Given the description of an element on the screen output the (x, y) to click on. 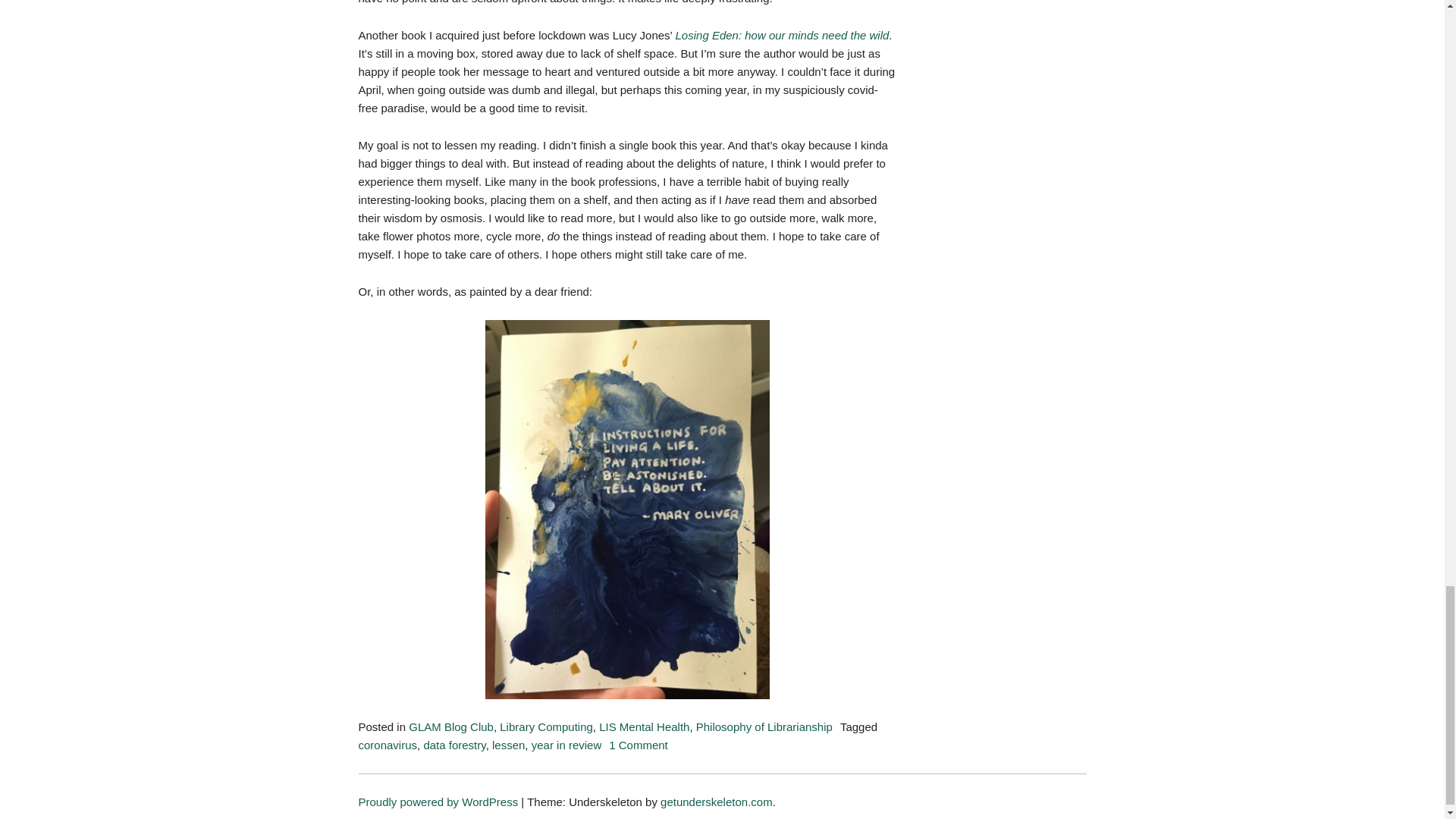
Losing Eden: how our minds need the wild (782, 33)
Philosophy of Librarianship (763, 725)
data forestry (453, 744)
lessen (638, 744)
year in review (508, 744)
LIS Mental Health (566, 744)
GLAM Blog Club (643, 725)
coronavirus (451, 725)
Library Computing (387, 744)
